Given the description of an element on the screen output the (x, y) to click on. 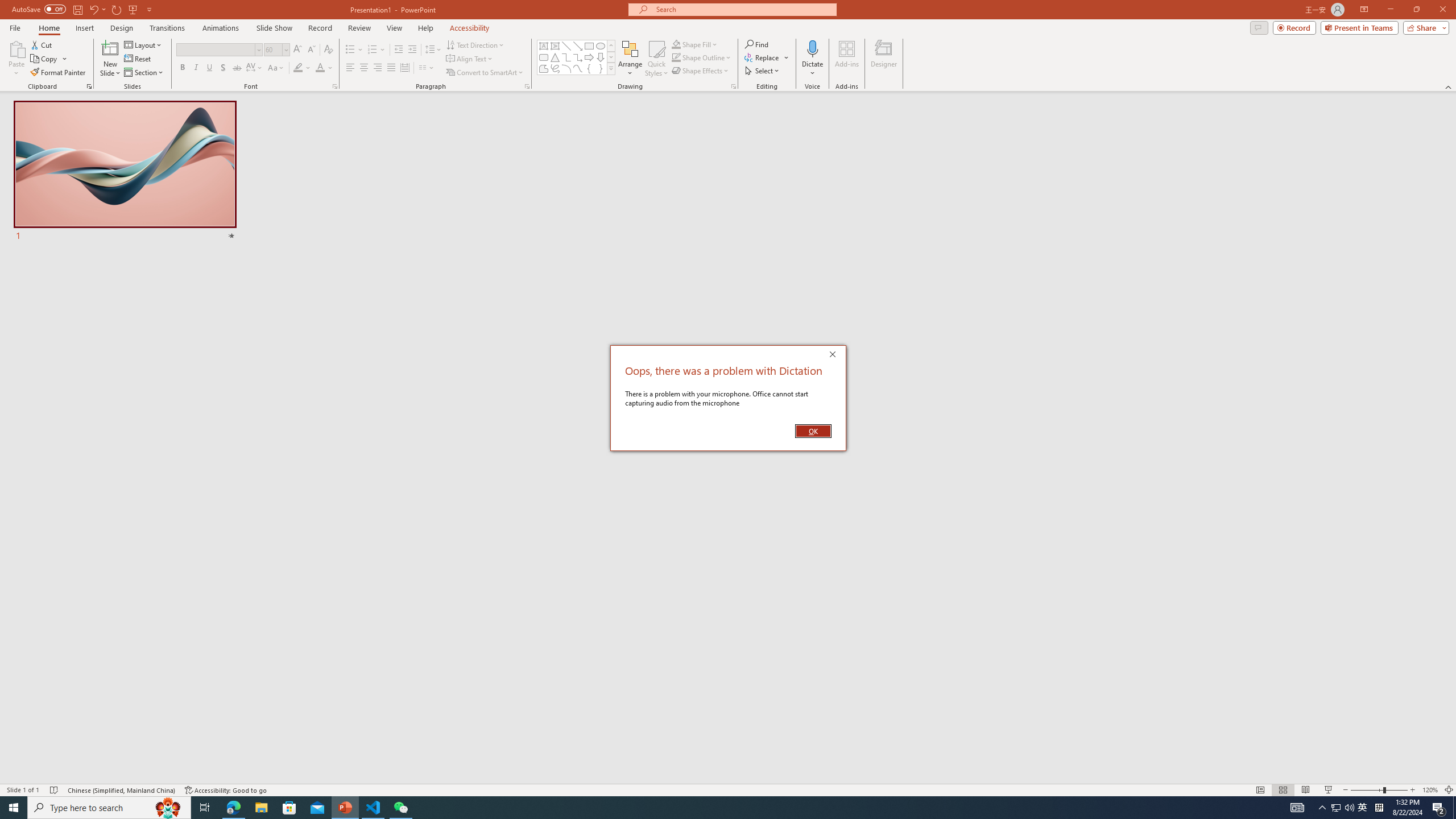
Shape Effects (700, 69)
Microsoft Edge - 1 running window (233, 807)
